Given the description of an element on the screen output the (x, y) to click on. 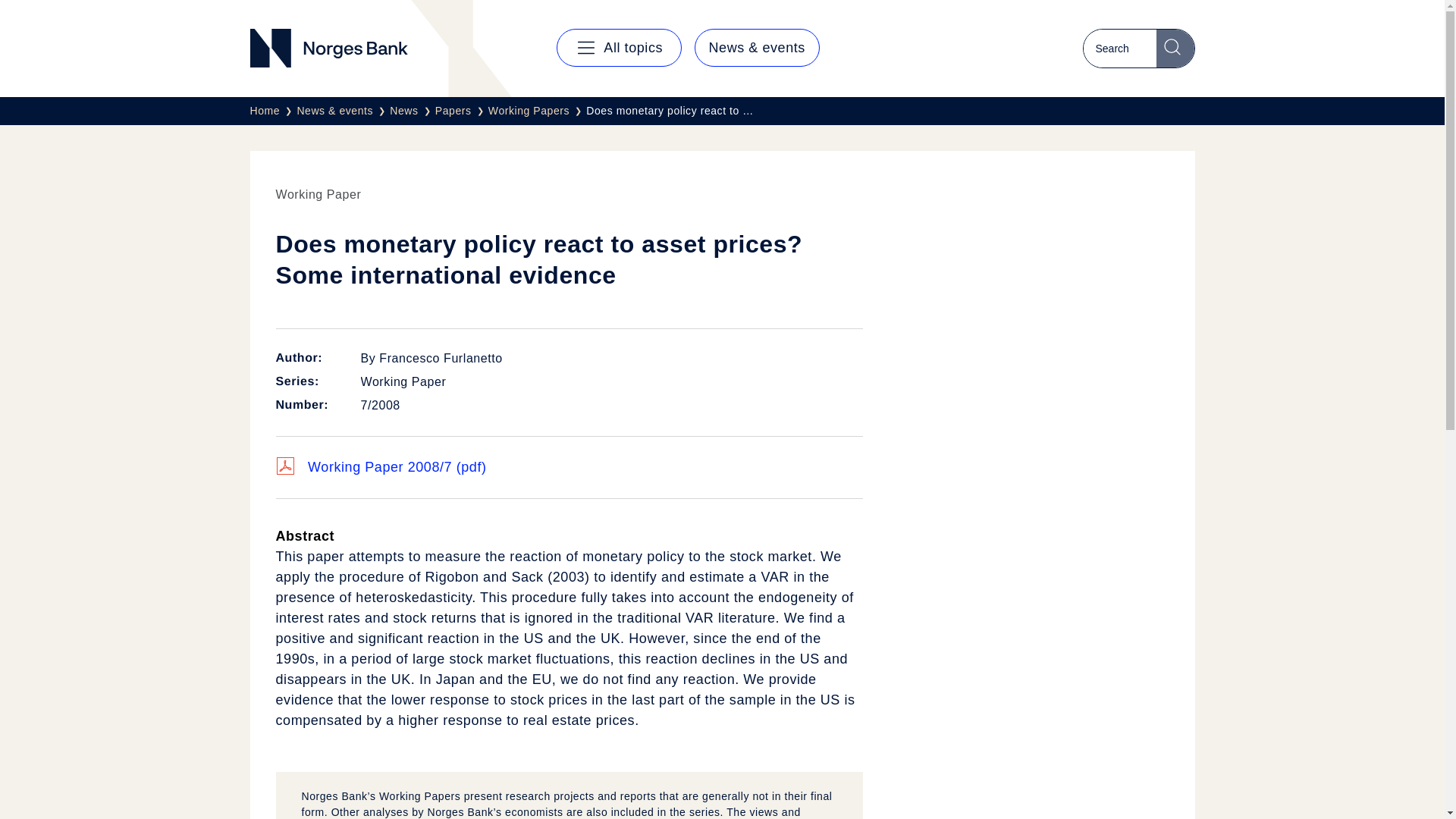
Papers (461, 110)
All topics (618, 47)
Working Papers (536, 110)
News (412, 110)
Search (1174, 48)
Home (273, 110)
Home (273, 110)
News (412, 110)
Working Papers (536, 110)
